Given the description of an element on the screen output the (x, y) to click on. 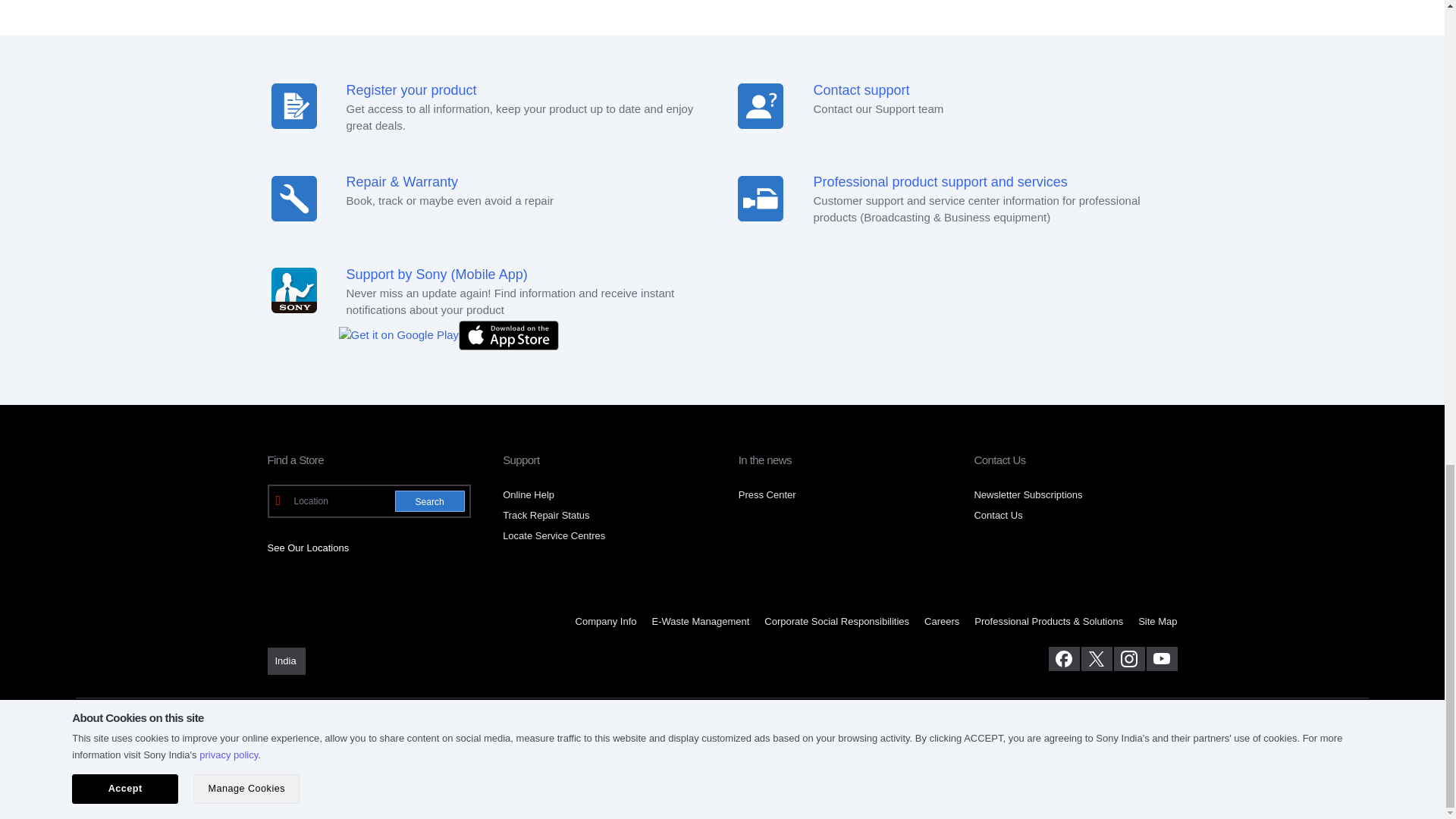
nntnnnttnn (760, 197)
